Given the description of an element on the screen output the (x, y) to click on. 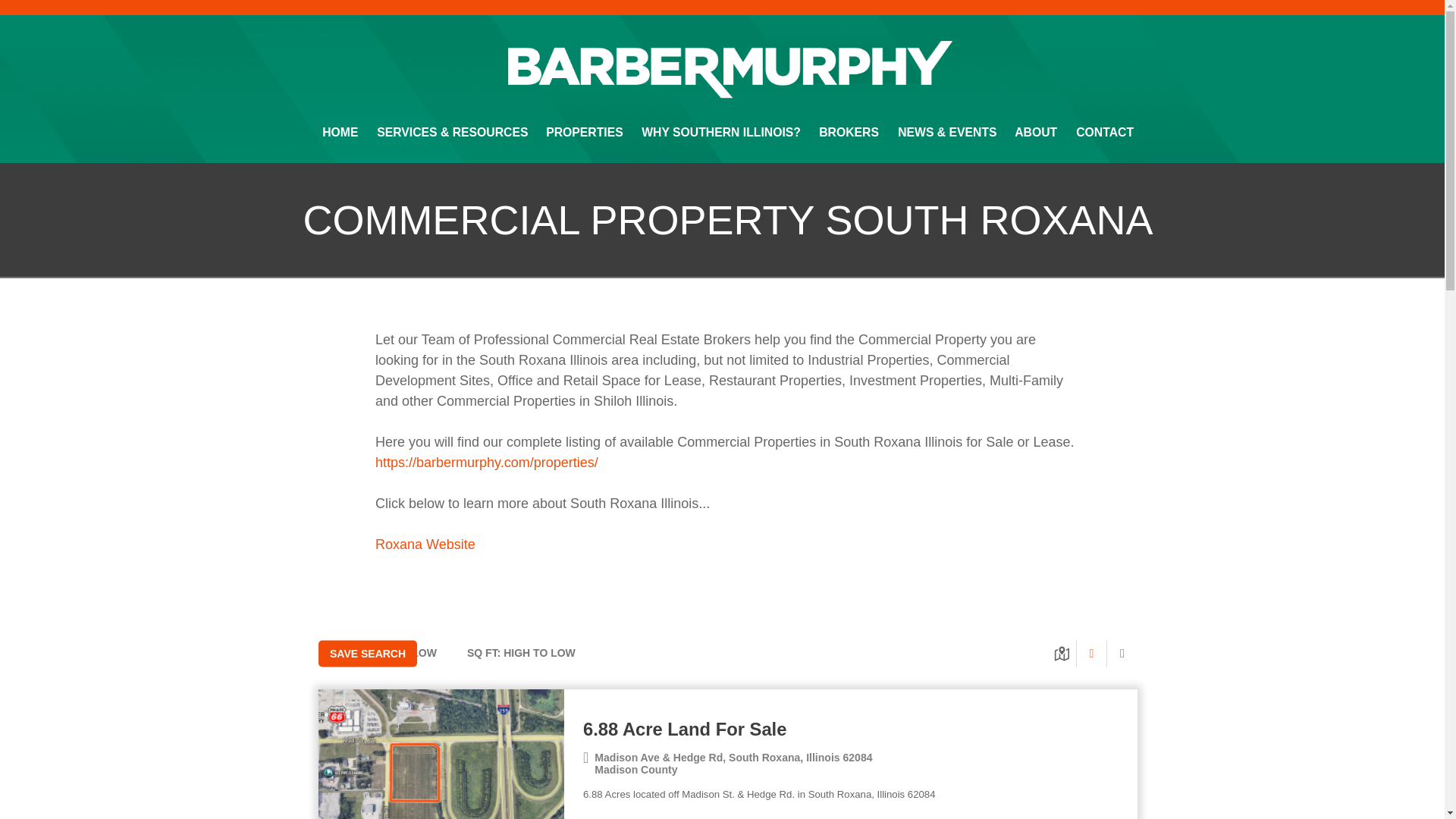
PROPERTIES (584, 132)
BROKERS (848, 132)
WHY SOUTHERN ILLINOIS? (721, 132)
HOME (340, 132)
CONTACT (1104, 132)
6.88 Acre Land For Sale  (850, 731)
ABOUT (1035, 132)
